Given the description of an element on the screen output the (x, y) to click on. 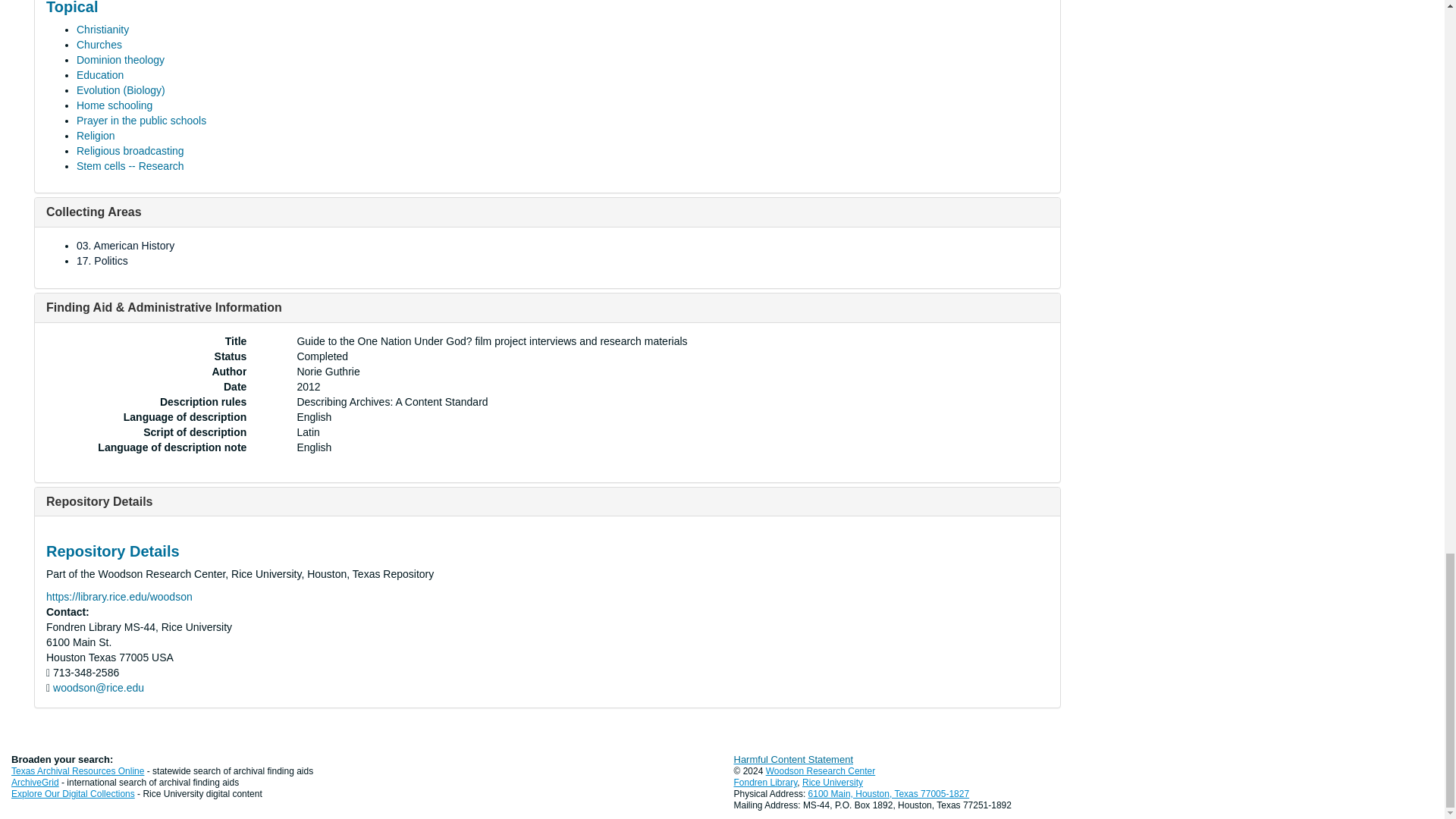
Send email (98, 687)
